Given the description of an element on the screen output the (x, y) to click on. 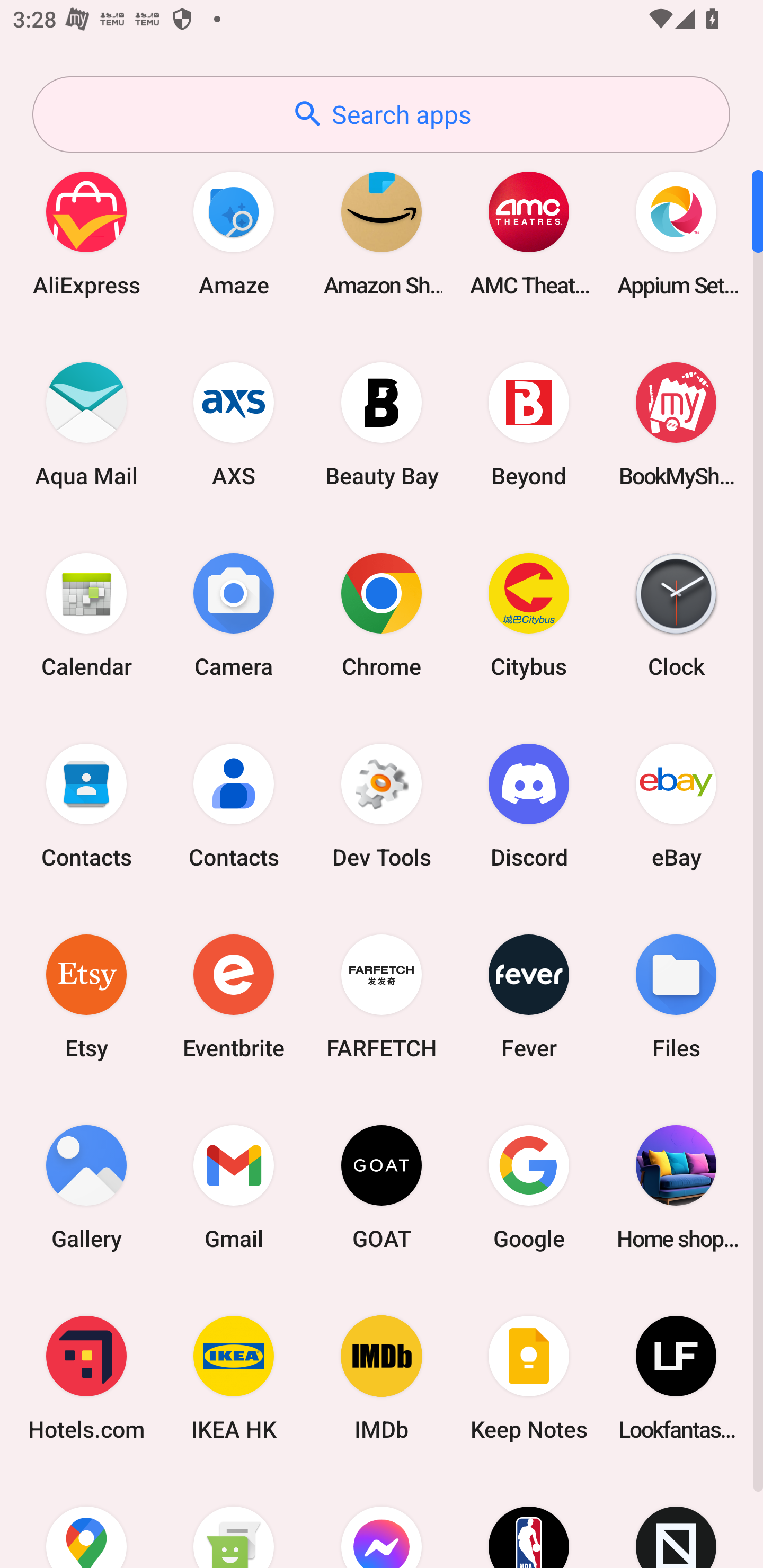
  Search apps (381, 114)
AliExpress (86, 233)
Amaze (233, 233)
Amazon Shopping (381, 233)
AMC Theatres (528, 233)
Appium Settings (676, 233)
Aqua Mail (86, 424)
AXS (233, 424)
Beauty Bay (381, 424)
Beyond (528, 424)
BookMyShow (676, 424)
Calendar (86, 614)
Camera (233, 614)
Chrome (381, 614)
Citybus (528, 614)
Clock (676, 614)
Contacts (86, 805)
Contacts (233, 805)
Dev Tools (381, 805)
Discord (528, 805)
eBay (676, 805)
Etsy (86, 996)
Eventbrite (233, 996)
FARFETCH (381, 996)
Fever (528, 996)
Files (676, 996)
Gallery (86, 1186)
Gmail (233, 1186)
GOAT (381, 1186)
Google (528, 1186)
Home shopping (676, 1186)
Hotels.com (86, 1377)
IKEA HK (233, 1377)
IMDb (381, 1377)
Keep Notes (528, 1377)
Lookfantastic (676, 1377)
